Given the description of an element on the screen output the (x, y) to click on. 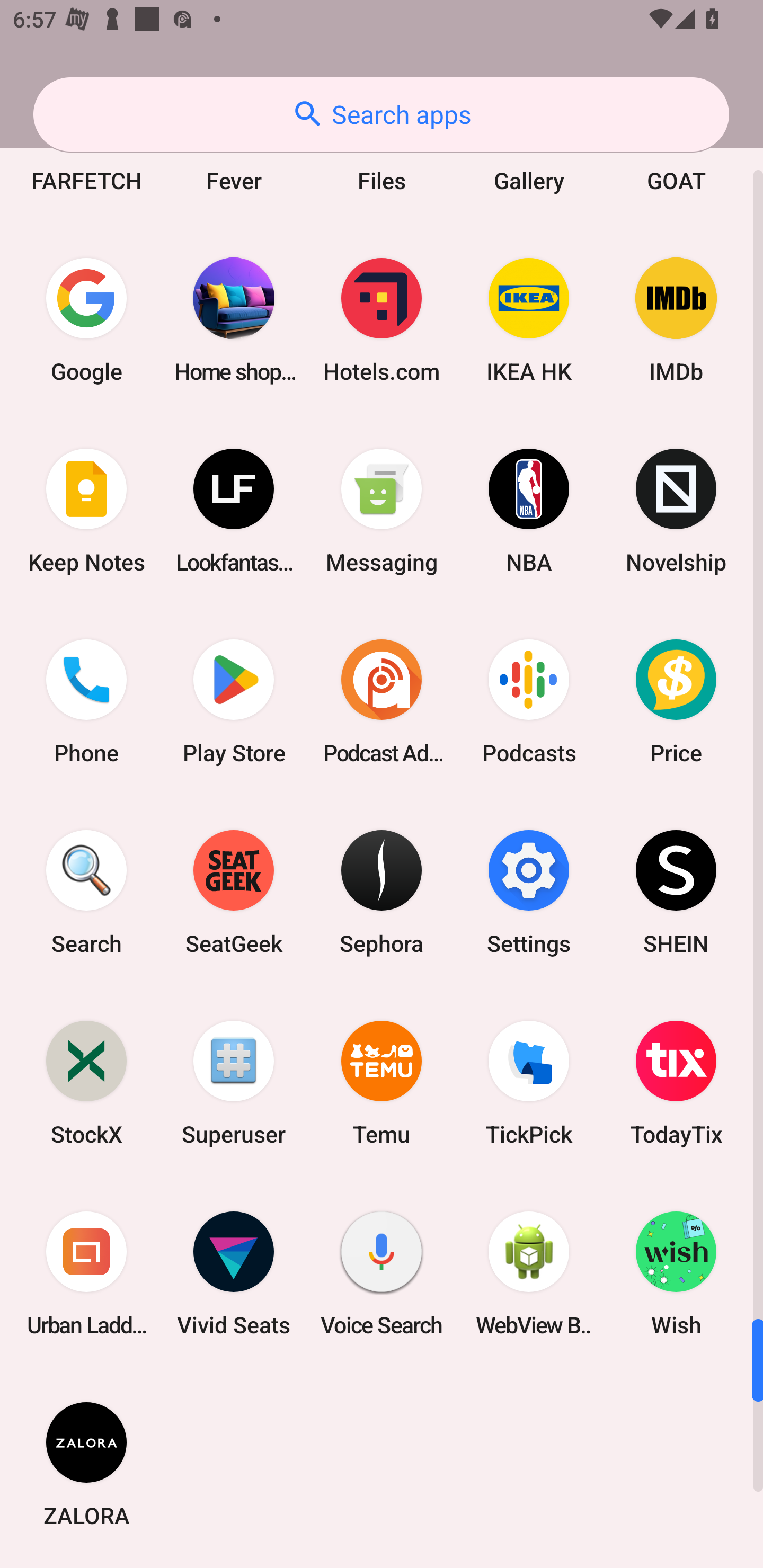
  Search apps (381, 114)
Google (86, 319)
Home shopping (233, 319)
Hotels.com (381, 319)
IKEA HK (528, 319)
IMDb (676, 319)
Keep Notes (86, 510)
Lookfantastic (233, 510)
Messaging (381, 510)
NBA (528, 510)
Novelship (676, 510)
Phone (86, 700)
Play Store (233, 700)
Podcast Addict (381, 700)
Podcasts (528, 700)
Price (676, 700)
Search (86, 891)
SeatGeek (233, 891)
Sephora (381, 891)
Settings (528, 891)
SHEIN (676, 891)
StockX (86, 1082)
Superuser (233, 1082)
Temu (381, 1082)
TickPick (528, 1082)
TodayTix (676, 1082)
Urban Ladder (86, 1272)
Vivid Seats (233, 1272)
Voice Search (381, 1272)
WebView Browser Tester (528, 1272)
Wish (676, 1272)
ZALORA (86, 1464)
